Given the description of an element on the screen output the (x, y) to click on. 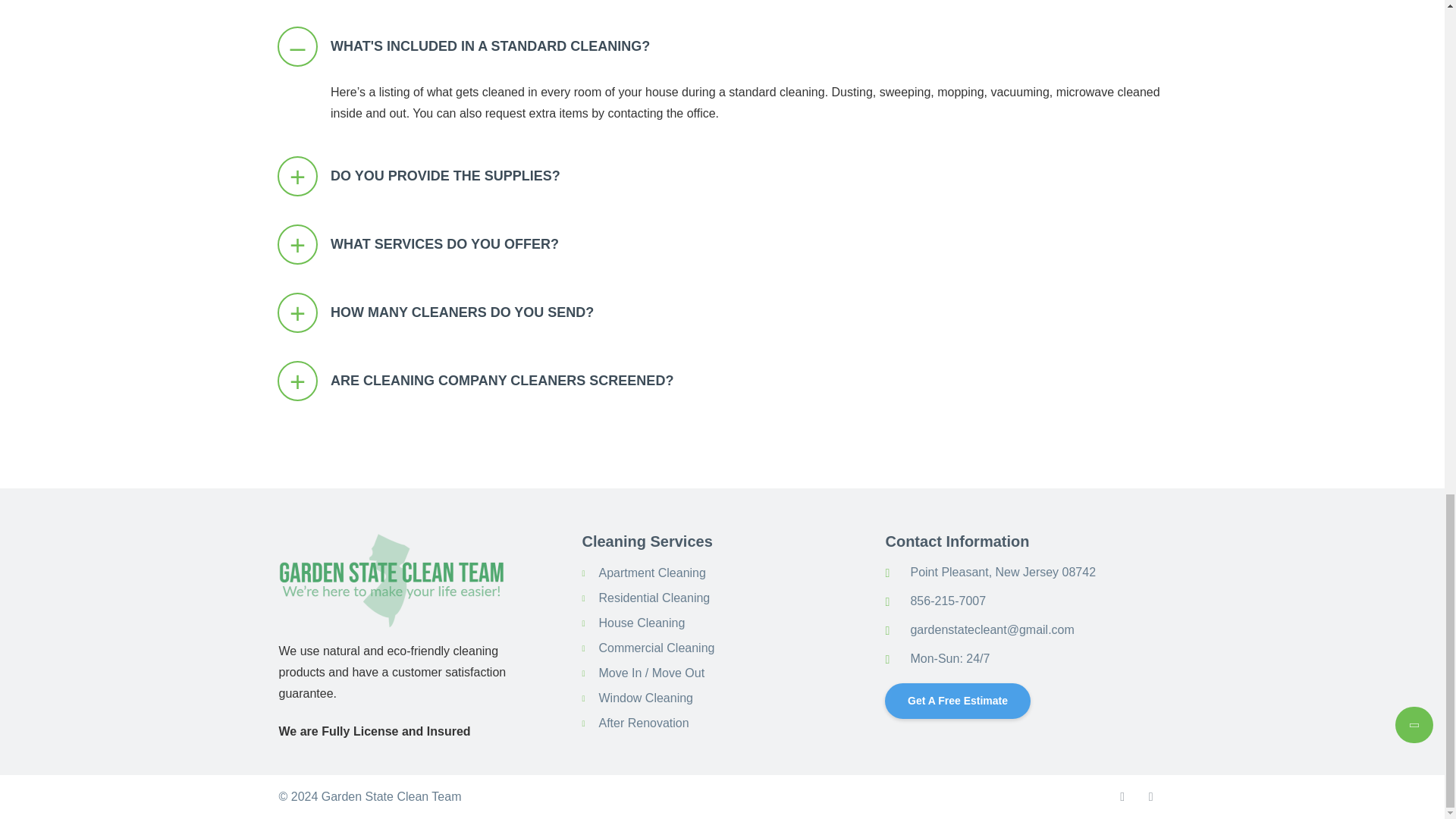
Apartment Cleaning (651, 572)
Apartment Cleaning (651, 572)
Residential Cleaning (654, 597)
Commercial Cleaning (656, 647)
After Renovation (643, 722)
Get A Free Estimate (950, 695)
Window Cleaning (645, 697)
Residential Cleaning (654, 597)
Commercial Cleaning (656, 647)
House Cleaning (641, 622)
